Given the description of an element on the screen output the (x, y) to click on. 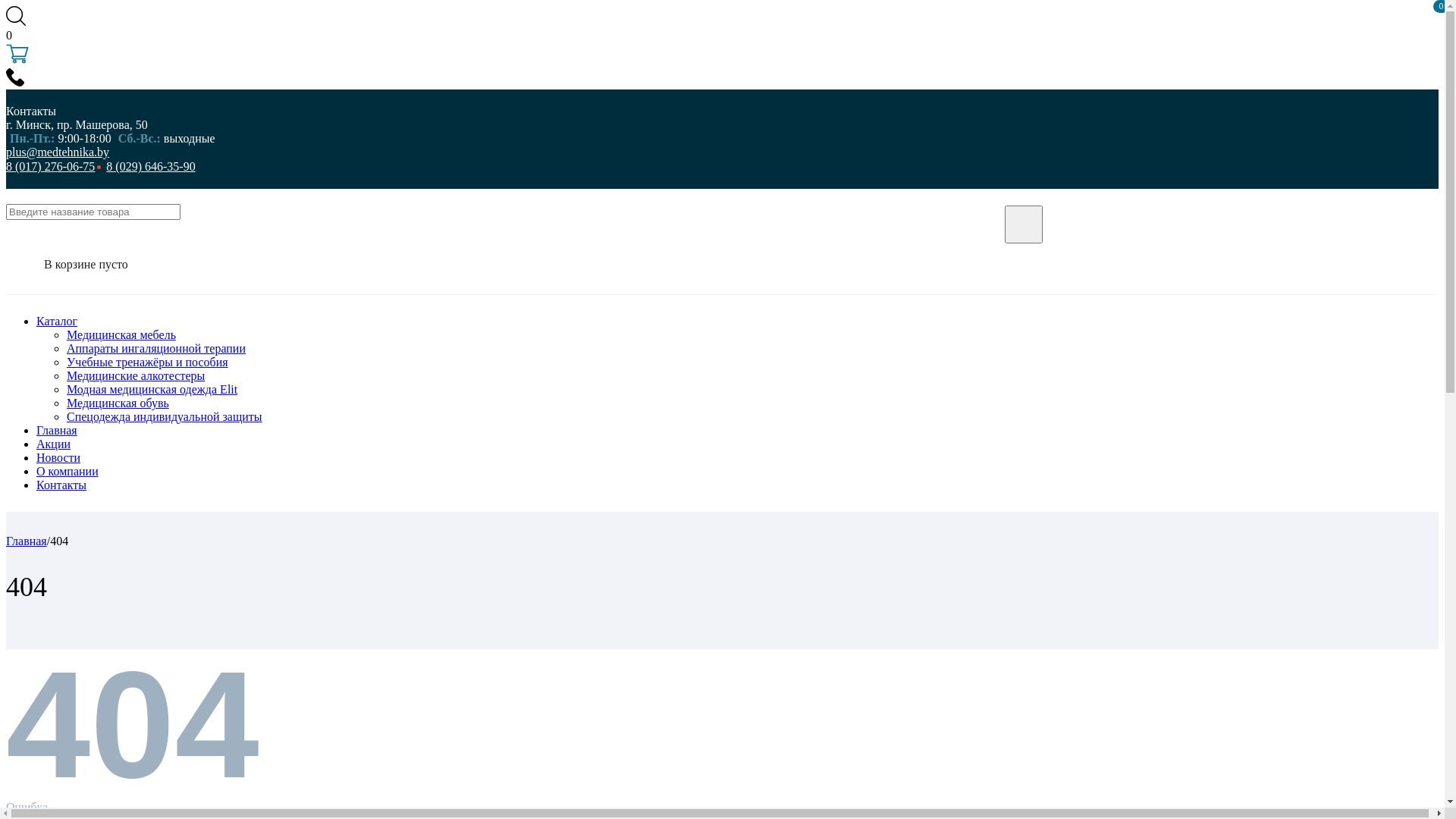
0 Element type: text (722, 47)
plus@medtehnika.by Element type: text (349, 152)
8 (029) 646-35-90 Element type: text (150, 166)
8 (017) 276-06-75 Element type: text (50, 166)
